Given the description of an element on the screen output the (x, y) to click on. 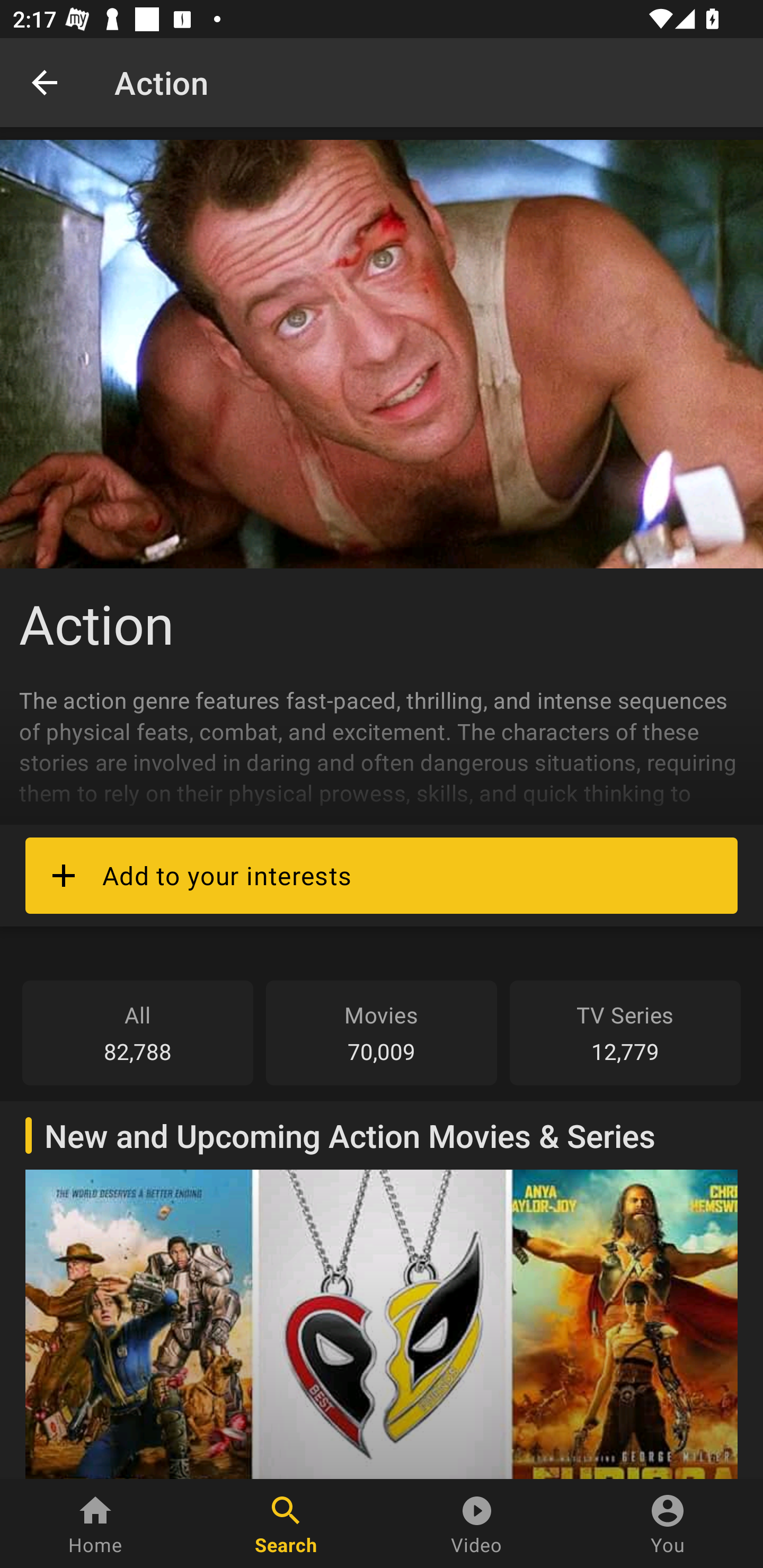
Add to your interests (381, 875)
All 82,788 (137, 1032)
Movies 70,009 (381, 1032)
TV Series 12,779 (624, 1032)
New and Upcoming Action Movies & Series (381, 1289)
Home (95, 1523)
Video (476, 1523)
You (667, 1523)
